Given the description of an element on the screen output the (x, y) to click on. 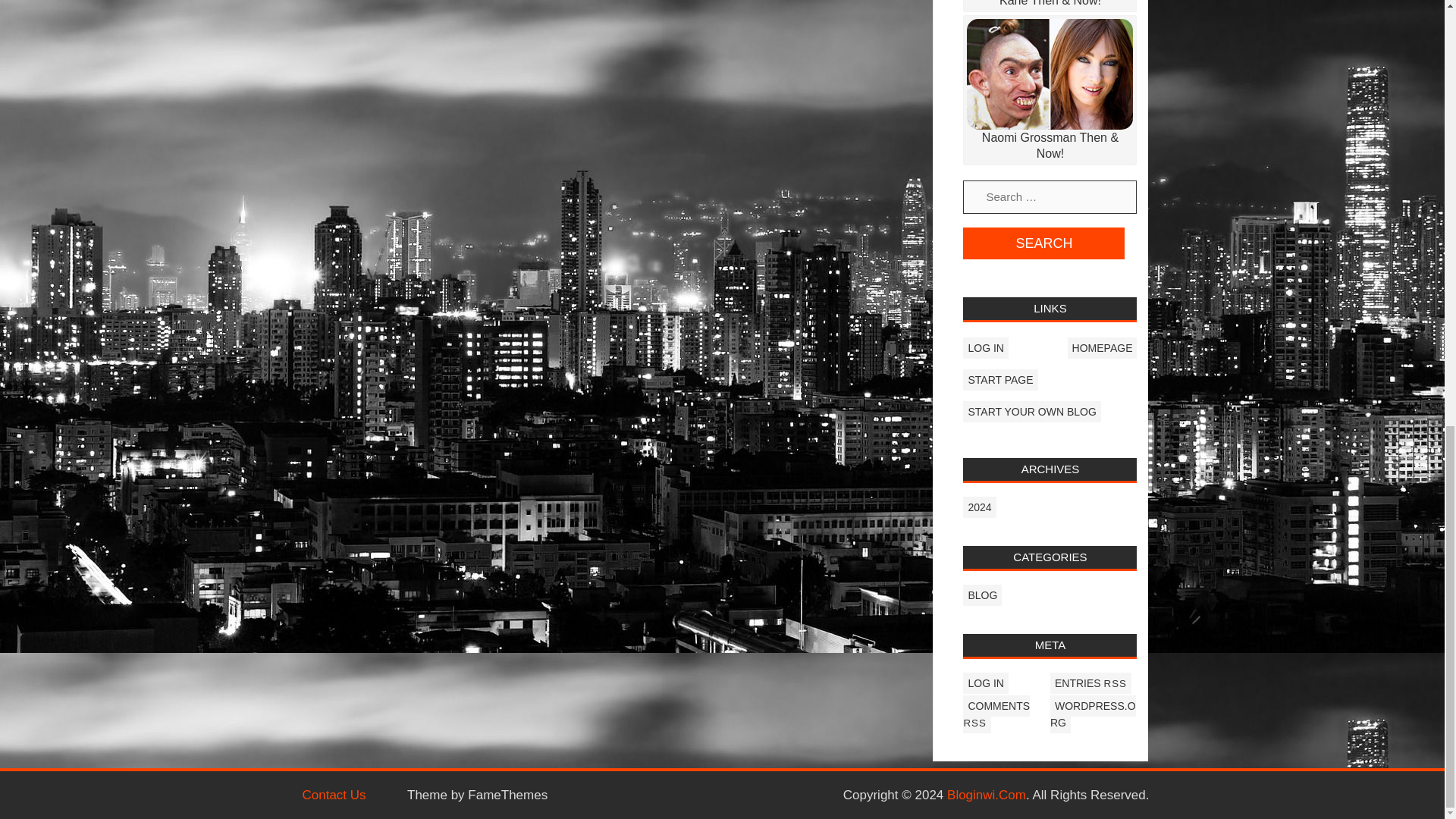
Really Simple Syndication (1114, 683)
WORDPRESS.ORG (1092, 714)
Bloginwi.Com (986, 796)
START PAGE (999, 379)
Really Simple Syndication (973, 722)
Search (1043, 243)
HOMEPAGE (1102, 347)
LOG IN (984, 347)
Search (1043, 243)
START YOUR OWN BLOG (1031, 411)
Contact Us (333, 796)
BLOG (981, 595)
ENTRIES RSS (1090, 682)
COMMENTS RSS (995, 714)
Search (1043, 243)
